Given the description of an element on the screen output the (x, y) to click on. 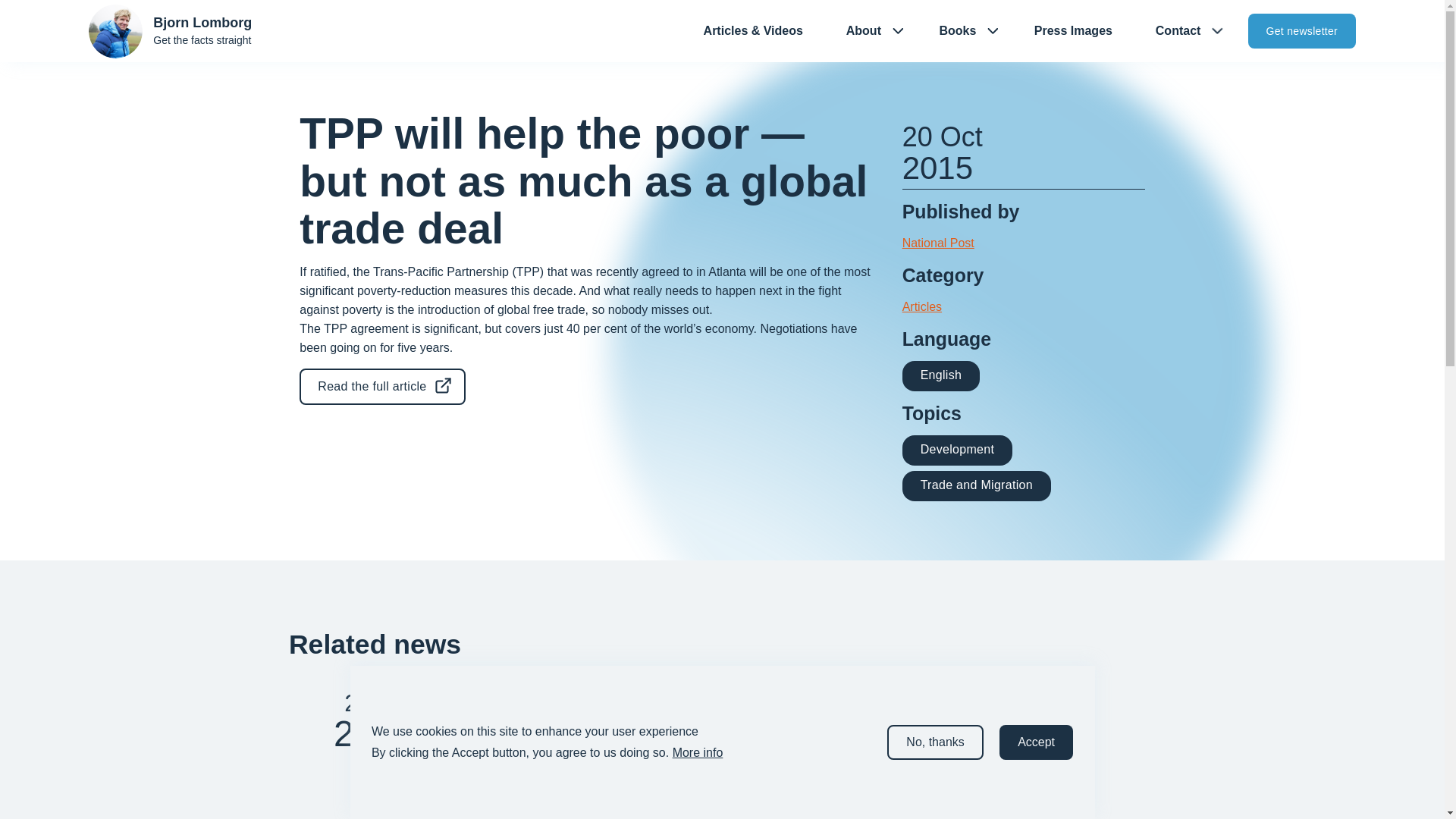
Making dollars count in Haiti (713, 730)
Development (957, 449)
Published by Boston Globe (713, 703)
Get the facts straight (201, 39)
Press Images (1072, 31)
Books (949, 31)
English (940, 376)
Get newsletter (1301, 30)
English (941, 374)
Development (519, 769)
Development (713, 769)
Articles (922, 306)
Bjorn Lomborg (201, 22)
Development (957, 450)
